Given the description of an element on the screen output the (x, y) to click on. 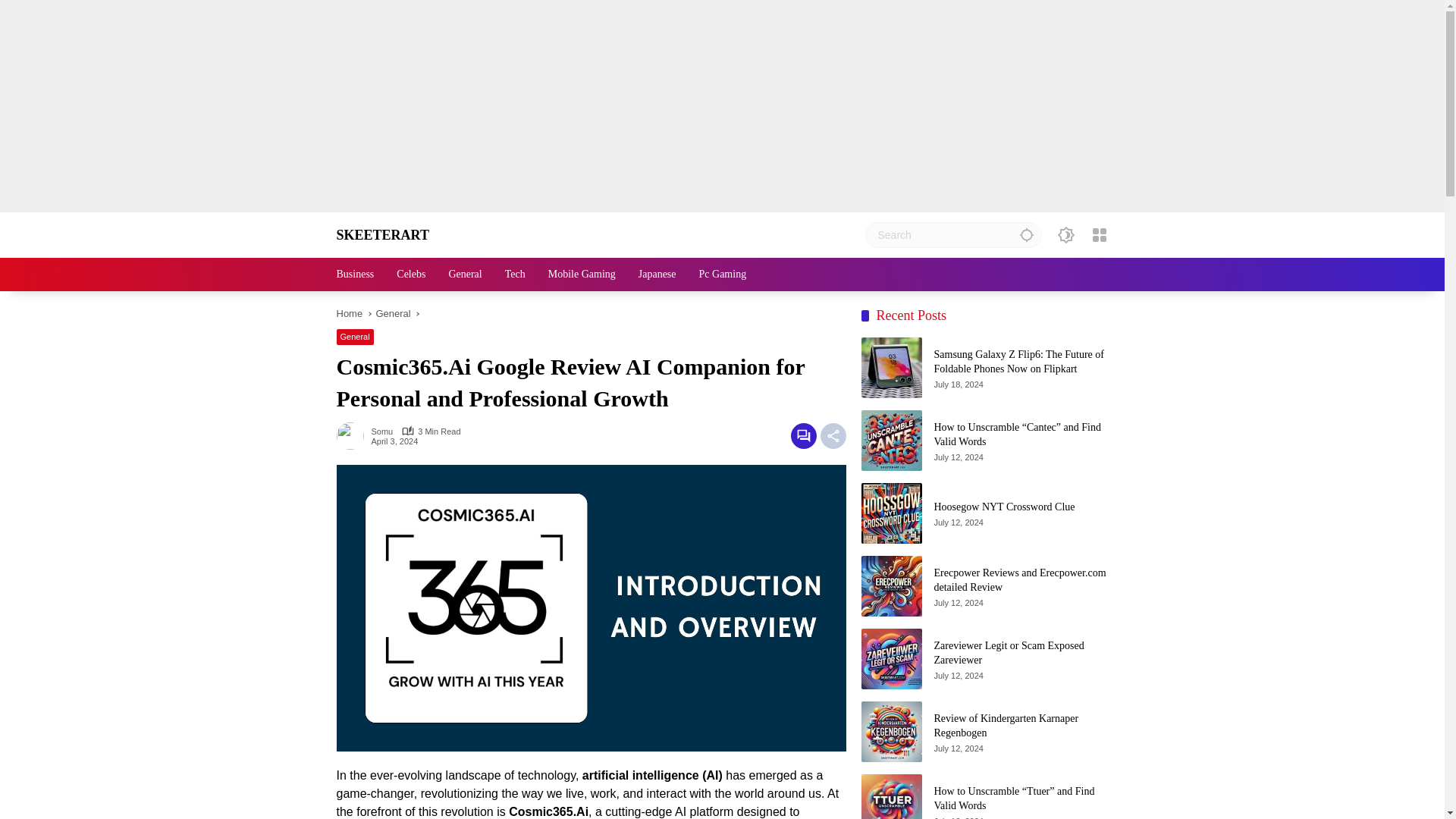
Home (349, 313)
Pc Gaming (722, 274)
View all posts in General (355, 336)
Mobile Gaming (581, 274)
SKEETERART (382, 234)
Permalink to: Somu (353, 434)
Somu (382, 431)
Tech (515, 274)
Japanese (658, 274)
Skeeterart (382, 234)
Celebs (410, 274)
General (355, 336)
General (464, 274)
